Given the description of an element on the screen output the (x, y) to click on. 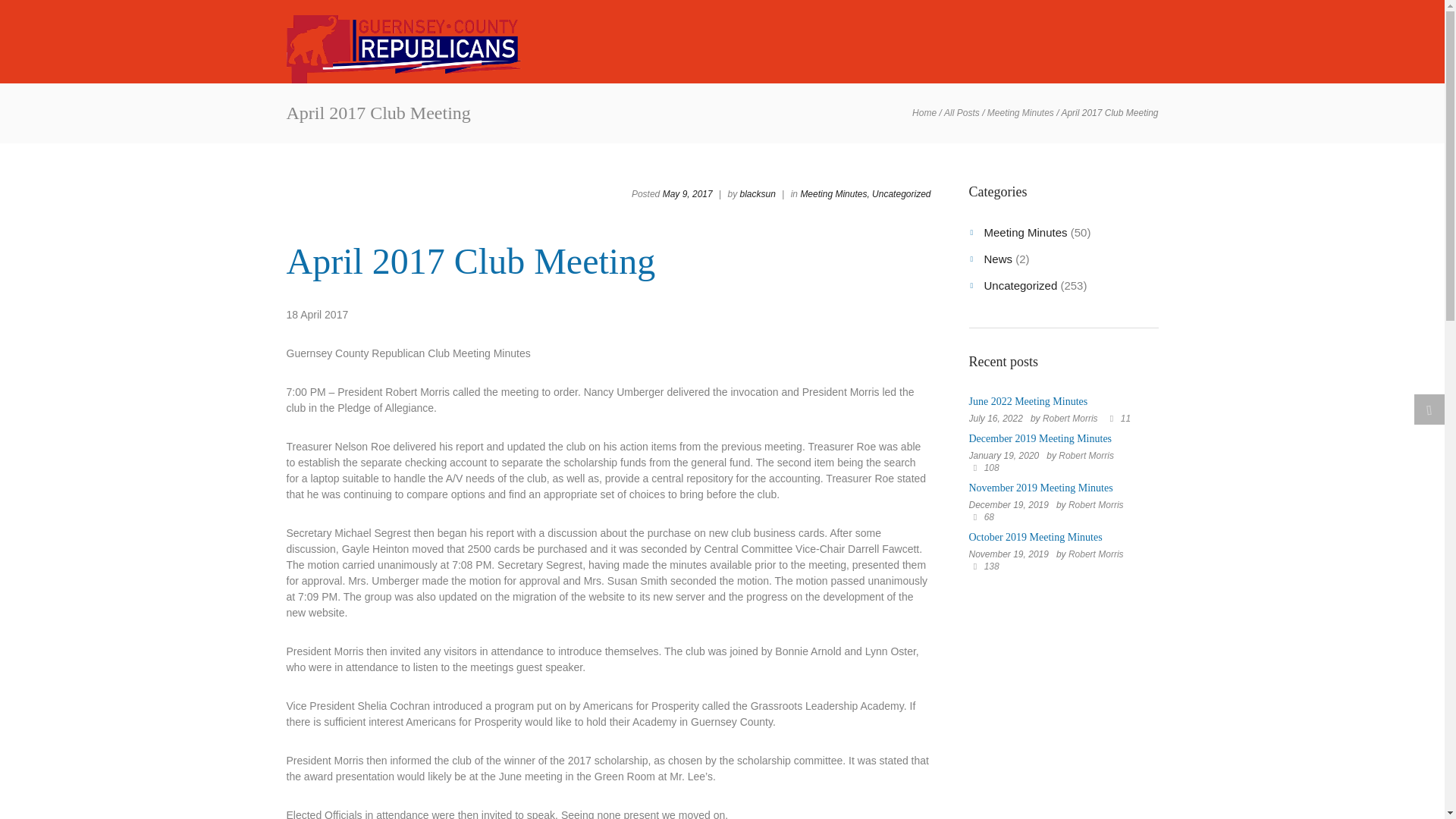
Meeting Minutes, (834, 194)
blacksun (757, 194)
May 9, 2017 (687, 194)
Uncategorized (901, 194)
Home (924, 113)
Meeting Minutes (1020, 113)
All Posts (961, 113)
